Given the description of an element on the screen output the (x, y) to click on. 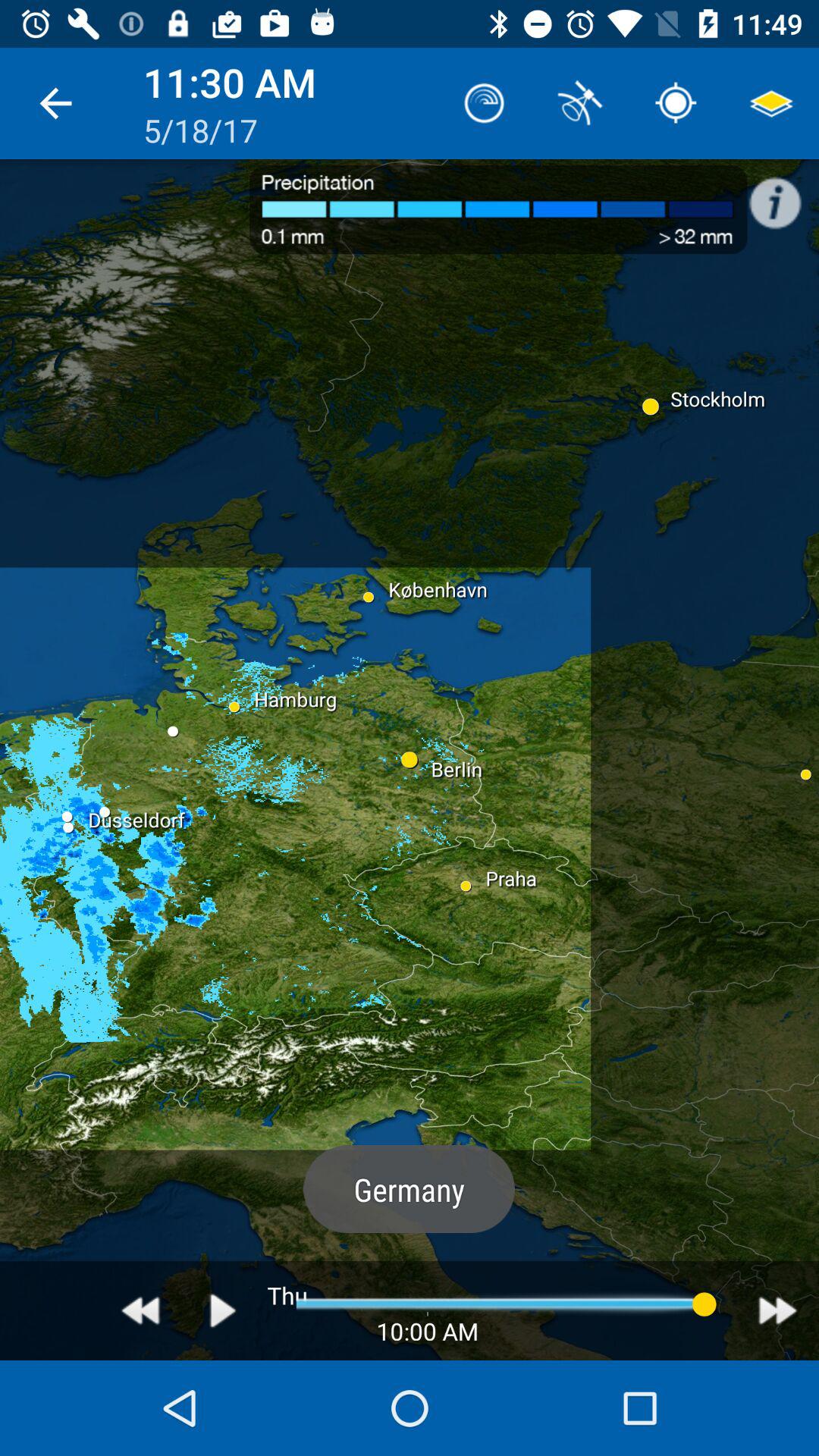
show information (783, 194)
